Given the description of an element on the screen output the (x, y) to click on. 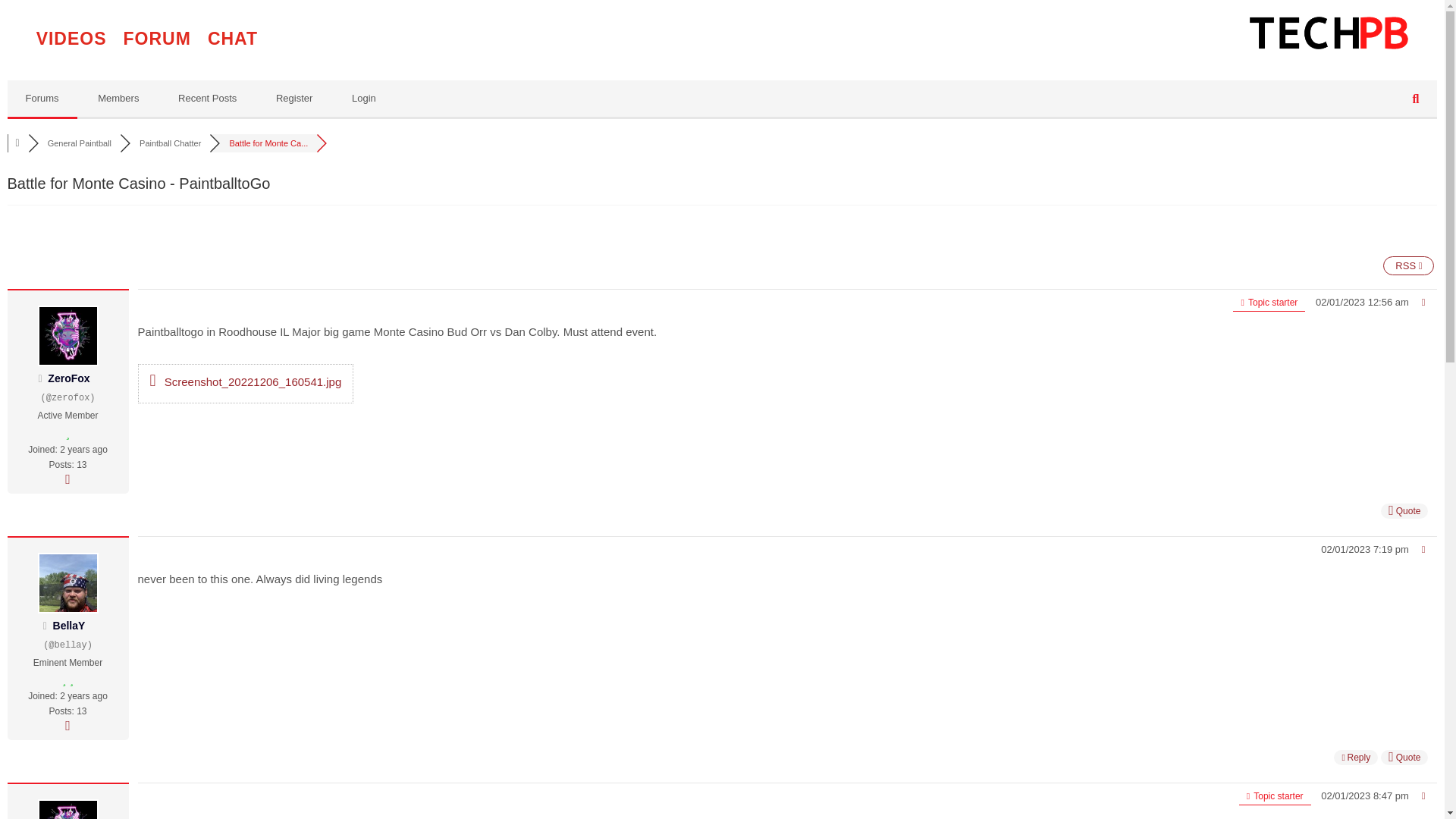
Member Rating Badge (68, 433)
Forums (42, 98)
General Paintball (80, 143)
Register (293, 98)
Recent Posts (207, 98)
CHAT (232, 41)
VIDEOS (71, 41)
Paintball Chatter (169, 143)
FORUM (156, 41)
Paintball Chatter (169, 143)
Rating Title (68, 416)
ZeroFox (68, 378)
Members (118, 98)
RSS (1408, 265)
techpb-logo (1328, 32)
